Given the description of an element on the screen output the (x, y) to click on. 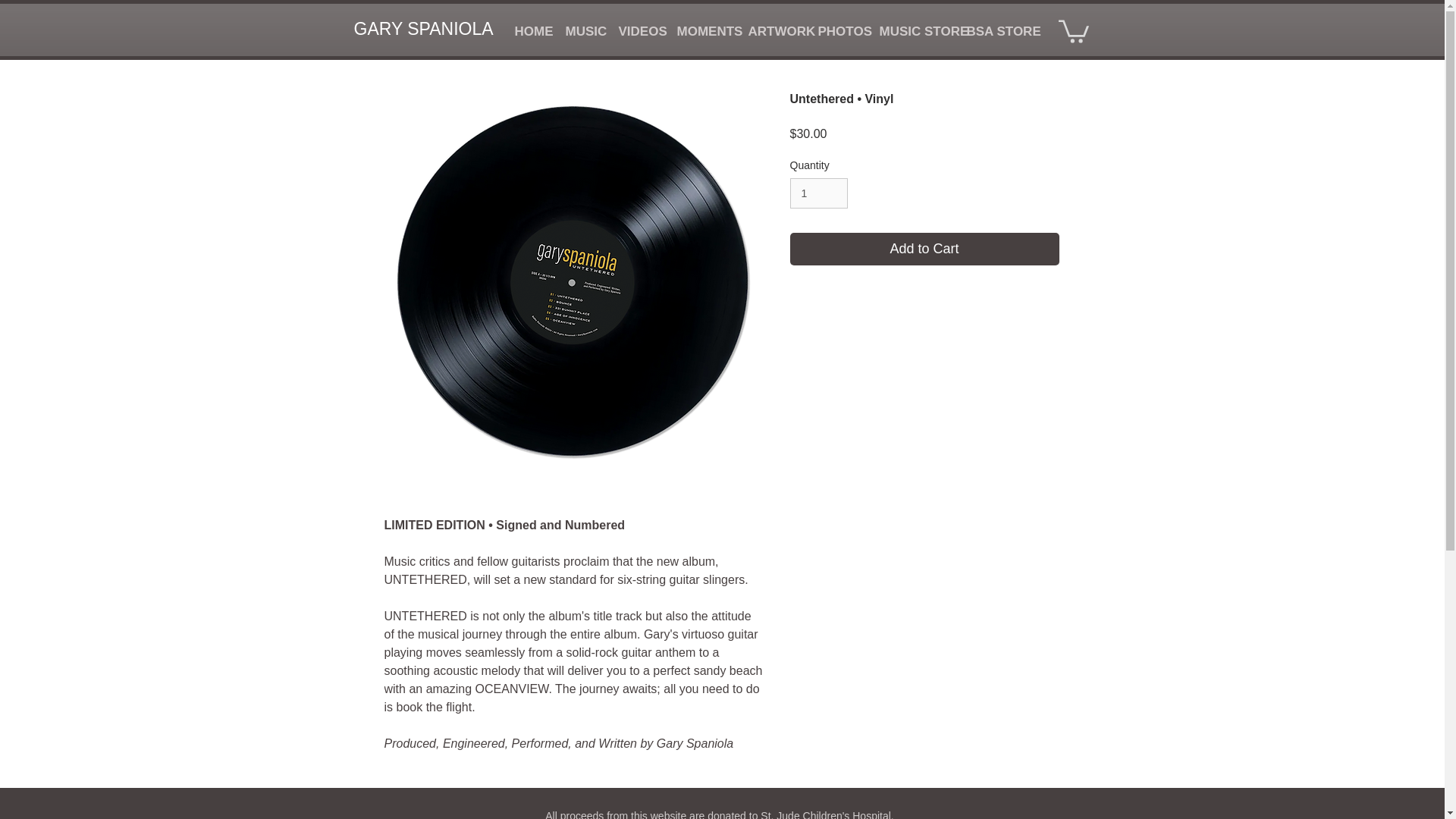
1 (818, 193)
VIDEOS (636, 31)
Add to Cart (924, 248)
GARY SPANIOLA (424, 28)
PHOTOS (836, 31)
HOME (528, 31)
MUSIC STORE (911, 31)
